Given the description of an element on the screen output the (x, y) to click on. 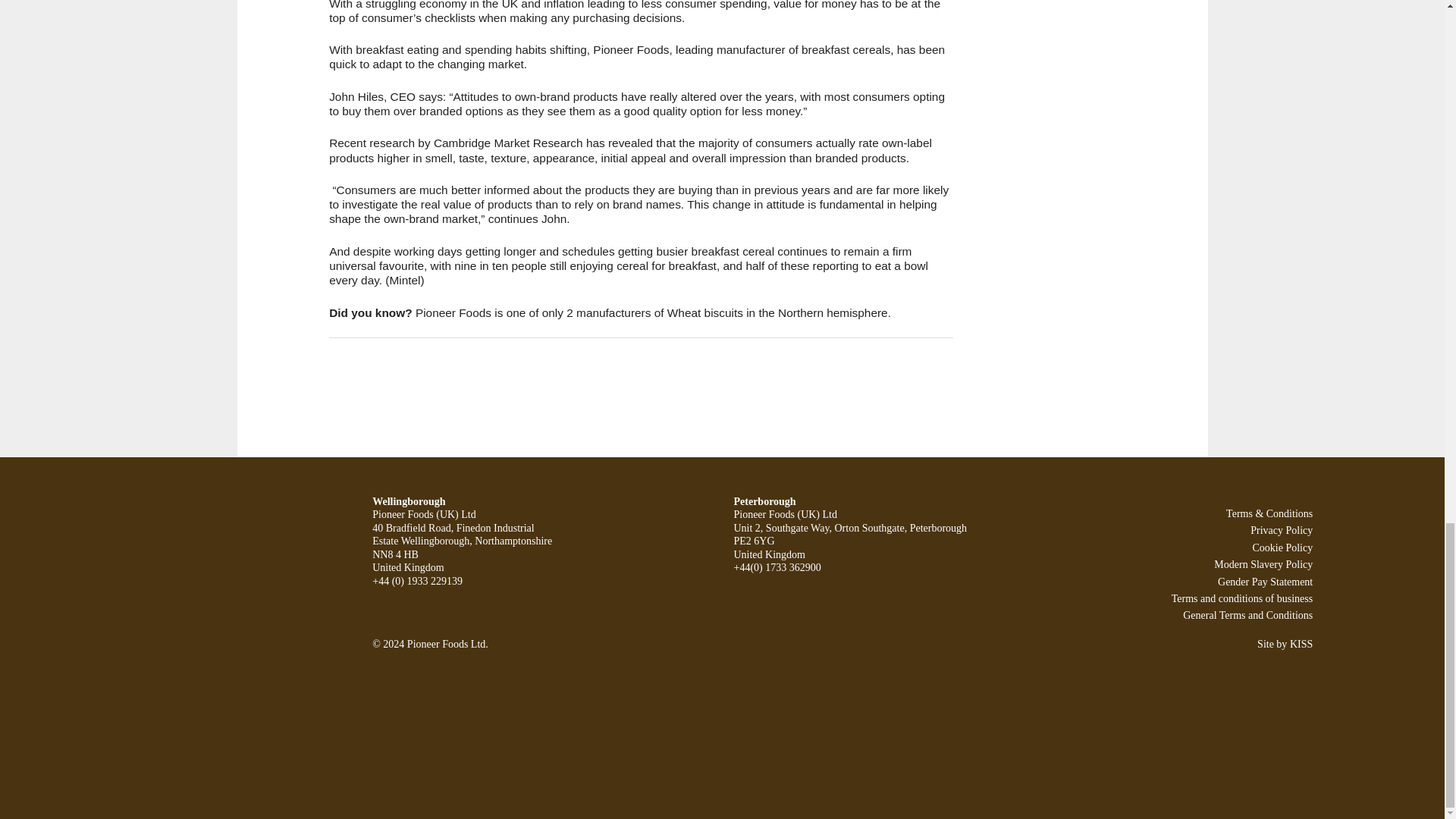
Terms and conditions of business (1242, 598)
Privacy Policy (1281, 530)
Modern Slavery Policy (1263, 564)
General Terms and Conditions (1247, 614)
Cookie Policy (1282, 547)
KISS (1301, 644)
Gender Pay Statement (1265, 581)
